Given the description of an element on the screen output the (x, y) to click on. 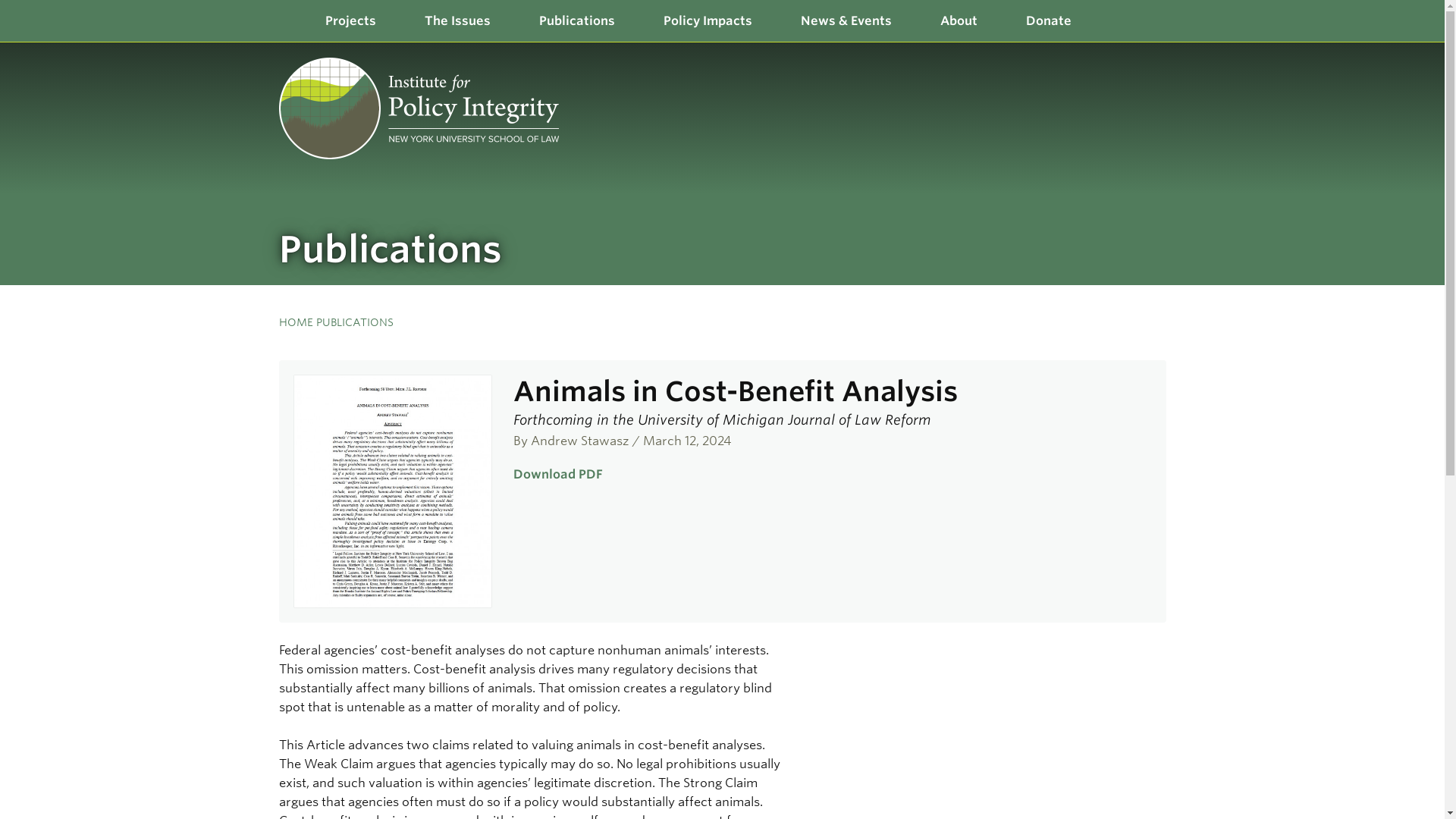
The Issues (457, 20)
Publications (576, 20)
Follow us on LinkedIn (1135, 57)
Follow us on YouTube (1165, 57)
Follow our blog on Medium (1150, 57)
About (958, 20)
Donate (1048, 20)
Projects (349, 20)
Policy Impacts (707, 20)
